Given the description of an element on the screen output the (x, y) to click on. 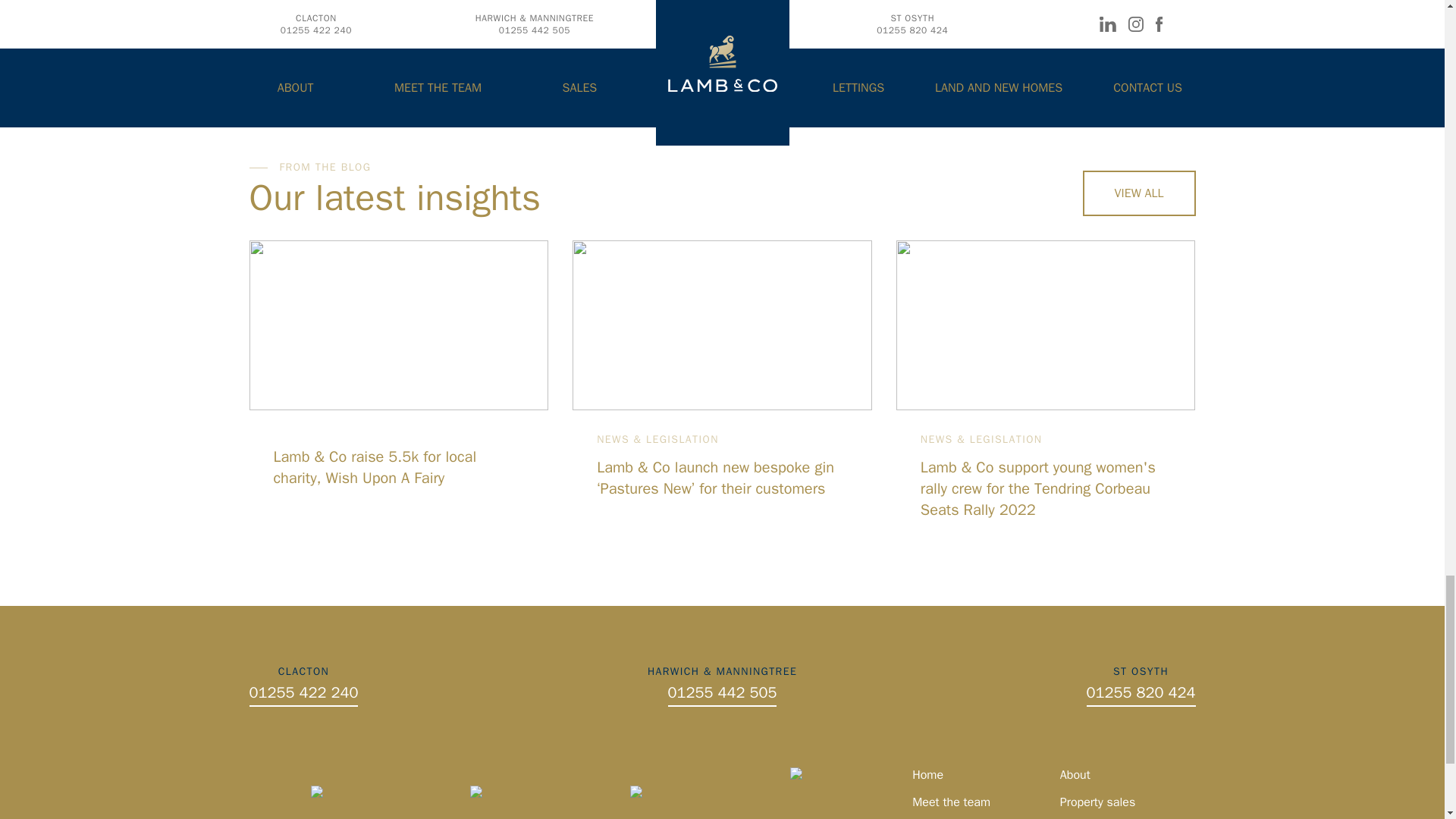
VIEW ALL (1139, 192)
